Given the description of an element on the screen output the (x, y) to click on. 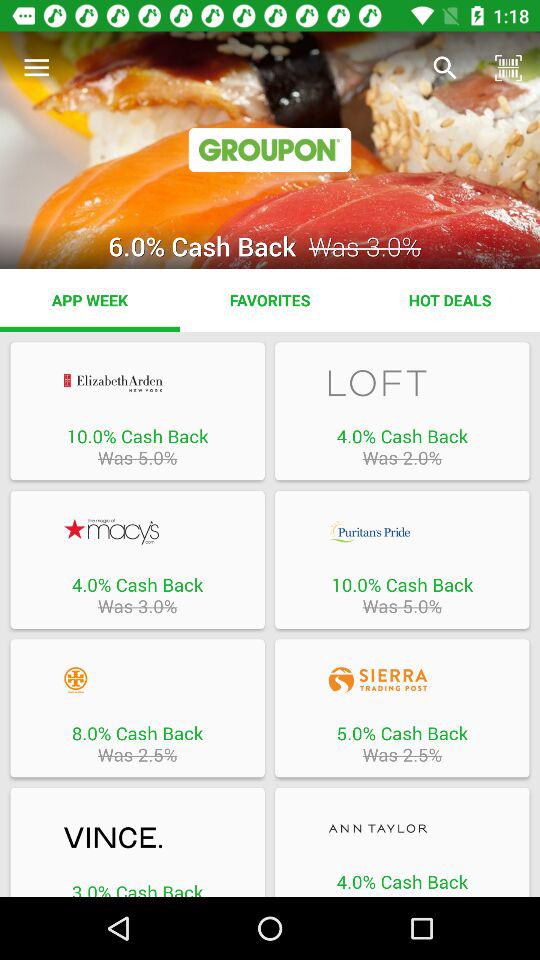
select loft offer (402, 382)
